Given the description of an element on the screen output the (x, y) to click on. 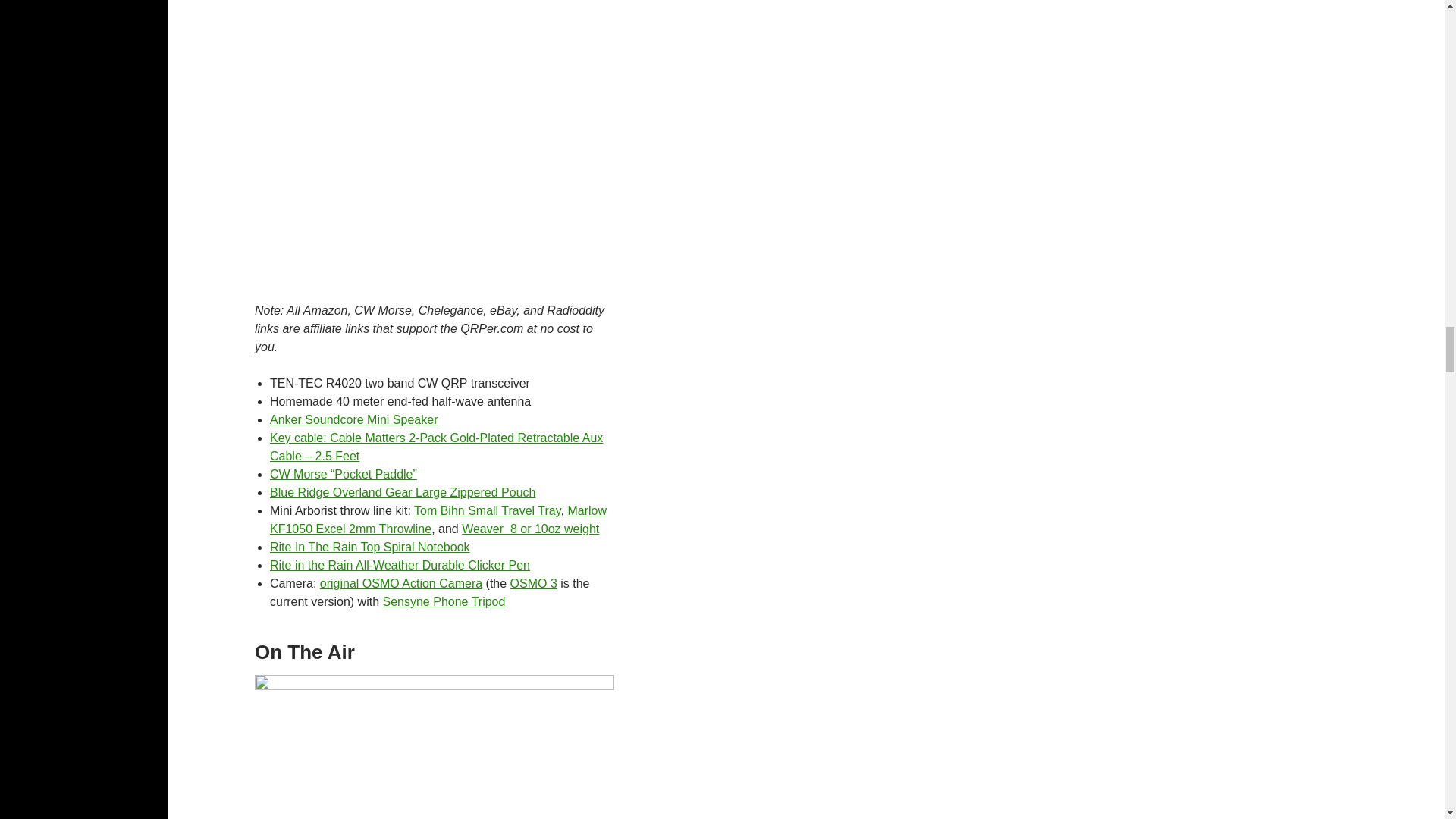
Tom Bihn Small Travel Tray (486, 510)
Blue Ridge Overland Gear Large Zippered Pouch (402, 492)
Anker Soundcore Mini Speaker (353, 419)
